Given the description of an element on the screen output the (x, y) to click on. 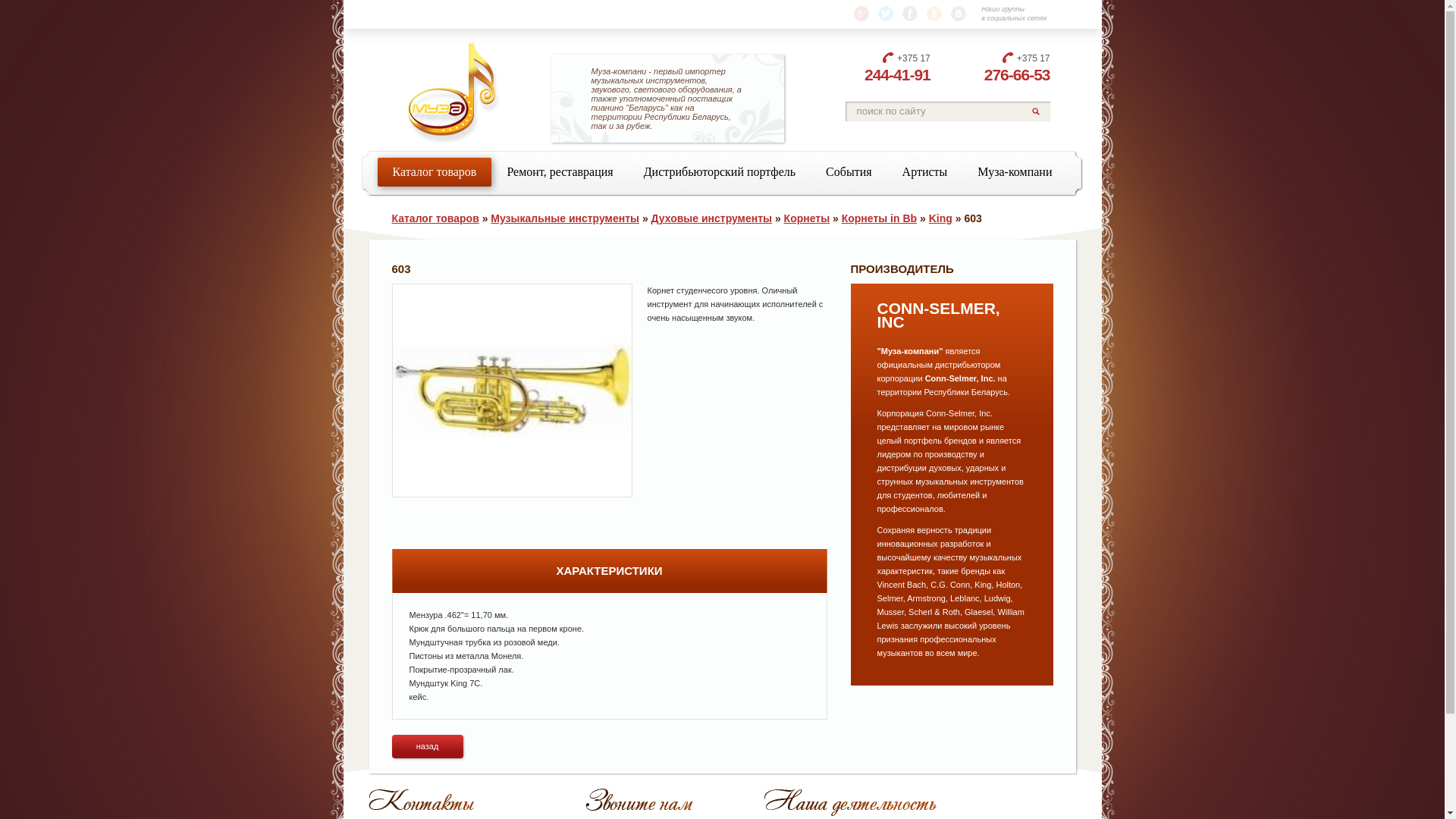
King Element type: text (940, 218)
603 Element type: hover (511, 390)
